Given the description of an element on the screen output the (x, y) to click on. 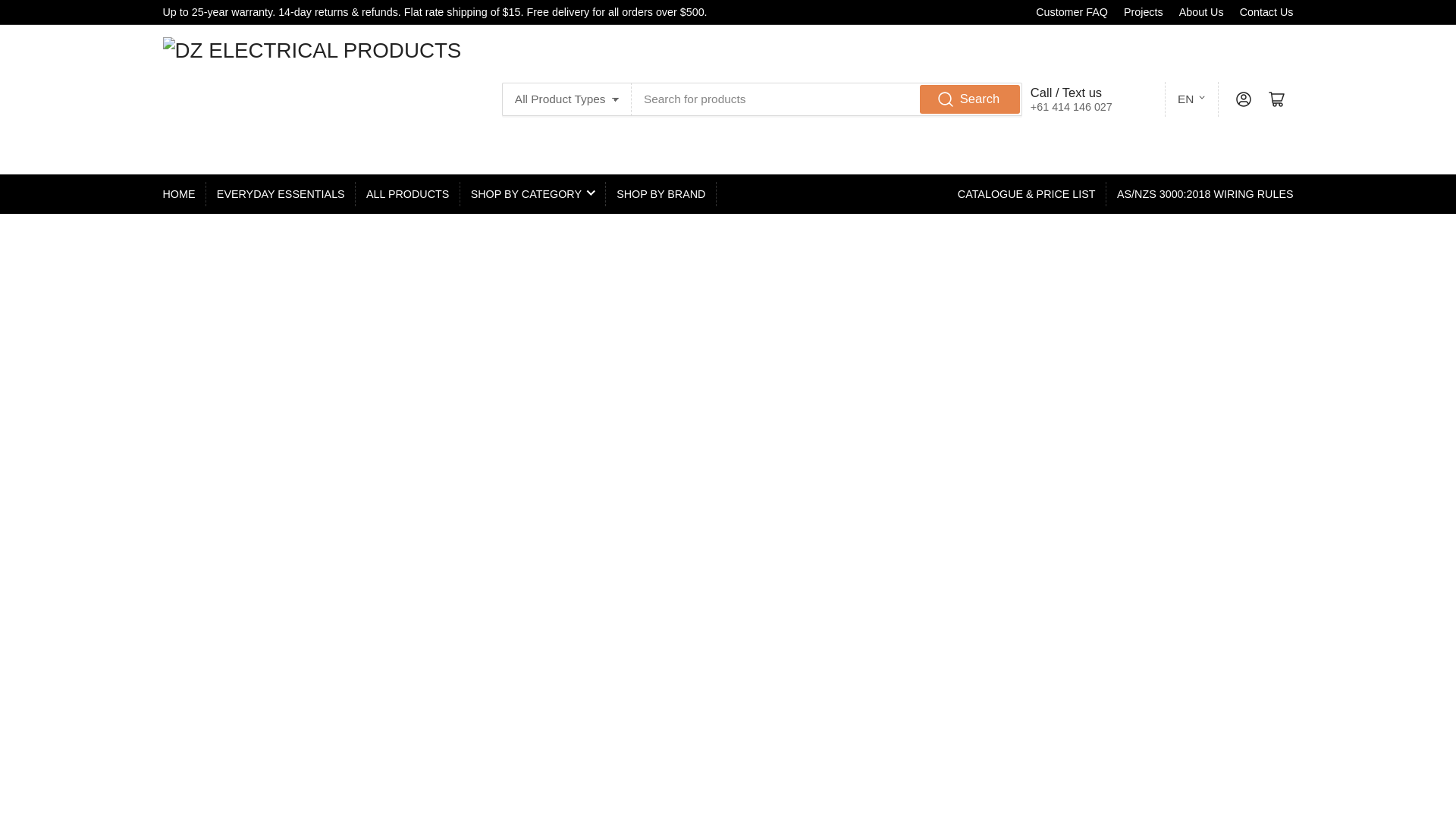
Projects (1143, 11)
Log in (1243, 99)
Search (969, 99)
Contact Us (1267, 11)
Open mini cart (1277, 99)
Customer FAQ (1071, 11)
About Us (1201, 11)
